Given the description of an element on the screen output the (x, y) to click on. 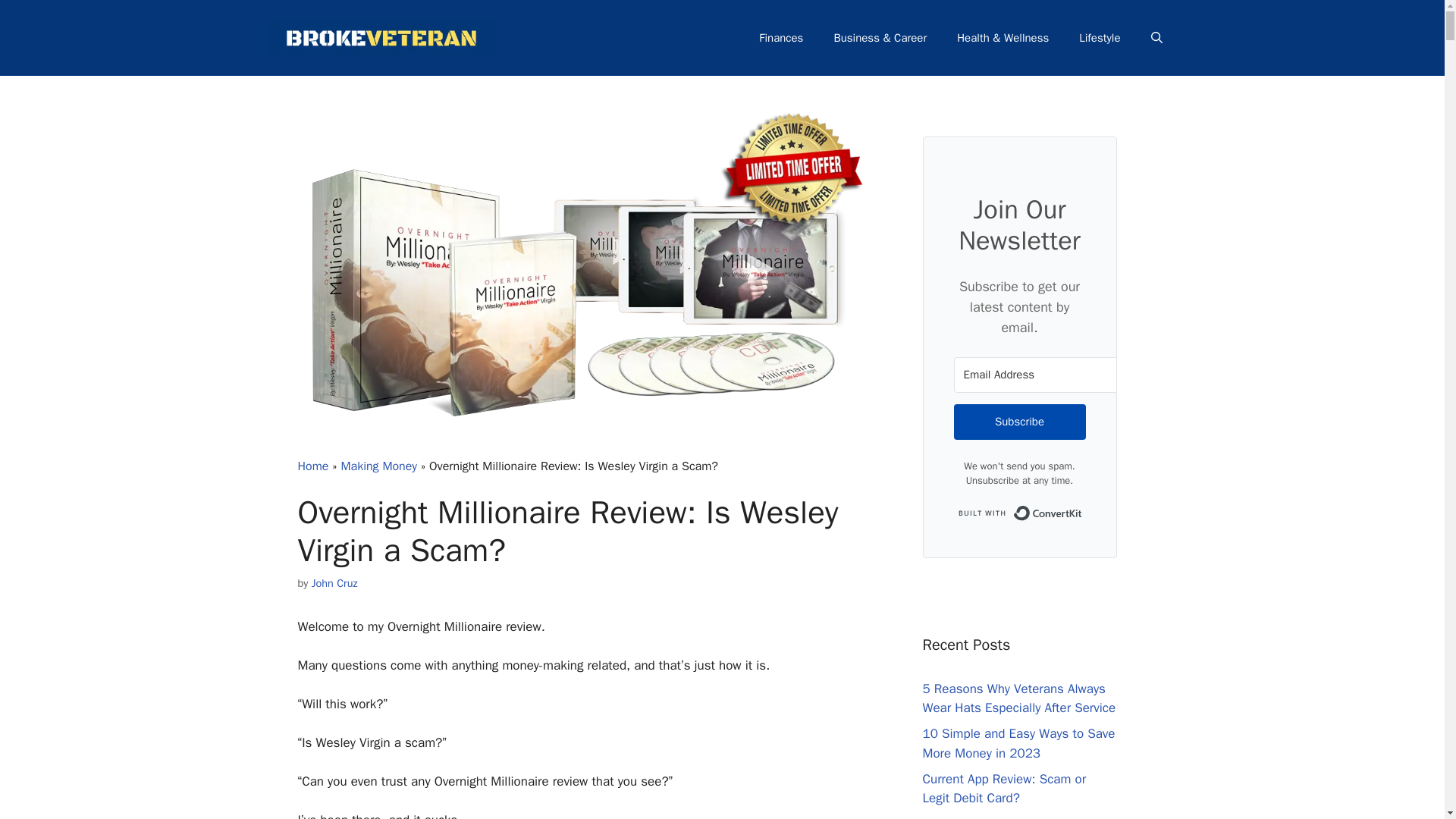
Lifestyle (1099, 37)
John Cruz (334, 582)
Finances (781, 37)
Home (313, 466)
View all posts by John Cruz (334, 582)
Making Money (378, 466)
